Given the description of an element on the screen output the (x, y) to click on. 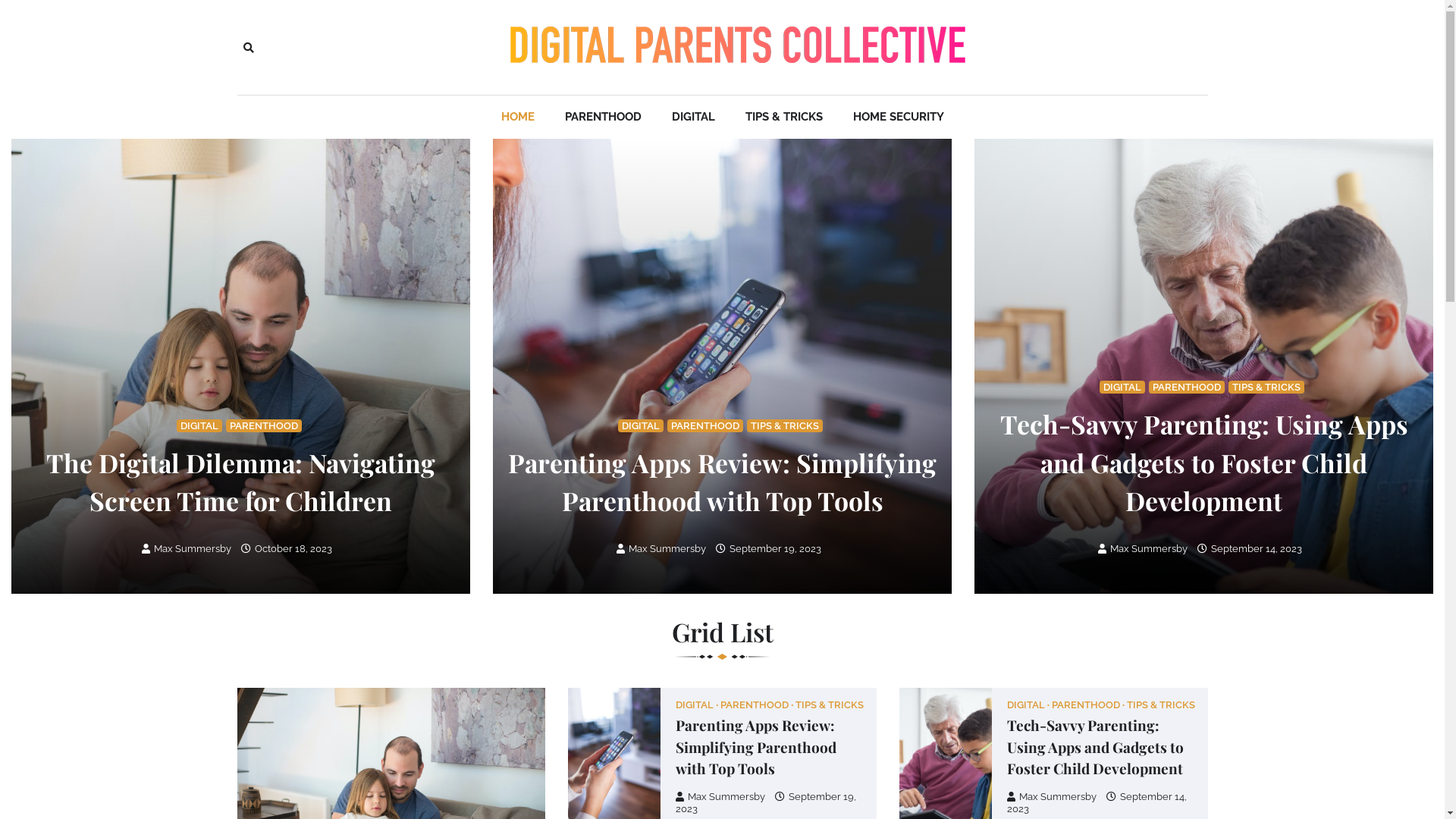
TIPS & TRICKS Element type: text (784, 425)
PARENTHOOD Element type: text (1087, 704)
PARENTHOOD Element type: text (263, 425)
TIPS & TRICKS Element type: text (1266, 386)
DIGITAL Element type: text (198, 425)
Parenting Apps Review: Simplifying Parenthood with Top Tools Element type: text (722, 481)
TIPS & TRICKS Element type: text (829, 704)
The Digital Dilemma: Navigating Screen Time for Children Element type: text (240, 481)
PARENTHOOD Element type: text (705, 425)
DIGITAL Element type: text (693, 116)
TIPS & TRICKS Element type: text (783, 116)
Max Summersby Element type: text (1142, 548)
September 19, 2023 Element type: text (768, 548)
HOME Element type: text (517, 116)
HOME SECURITY Element type: text (897, 116)
TIPS & TRICKS Element type: text (1160, 704)
September 14, 2023 Element type: text (1096, 802)
Max Summersby Element type: text (186, 548)
PARENTHOOD Element type: text (756, 704)
October 18, 2023 Element type: text (286, 548)
DIGITAL Element type: text (640, 425)
DIGITAL Element type: text (1122, 386)
DIGITAL Element type: text (696, 704)
Max Summersby Element type: text (660, 548)
Max Summersby Element type: text (720, 796)
PARENTHOOD Element type: text (602, 116)
Max Summersby Element type: text (1051, 796)
Search Element type: hover (247, 47)
DIGITAL Element type: text (1028, 704)
September 14, 2023 Element type: text (1249, 548)
PARENTHOOD Element type: text (1186, 386)
Search Element type: text (444, 83)
Parenting Apps Review: Simplifying Parenthood with Top Tools Element type: text (755, 746)
September 19, 2023 Element type: text (765, 802)
